Given the description of an element on the screen output the (x, y) to click on. 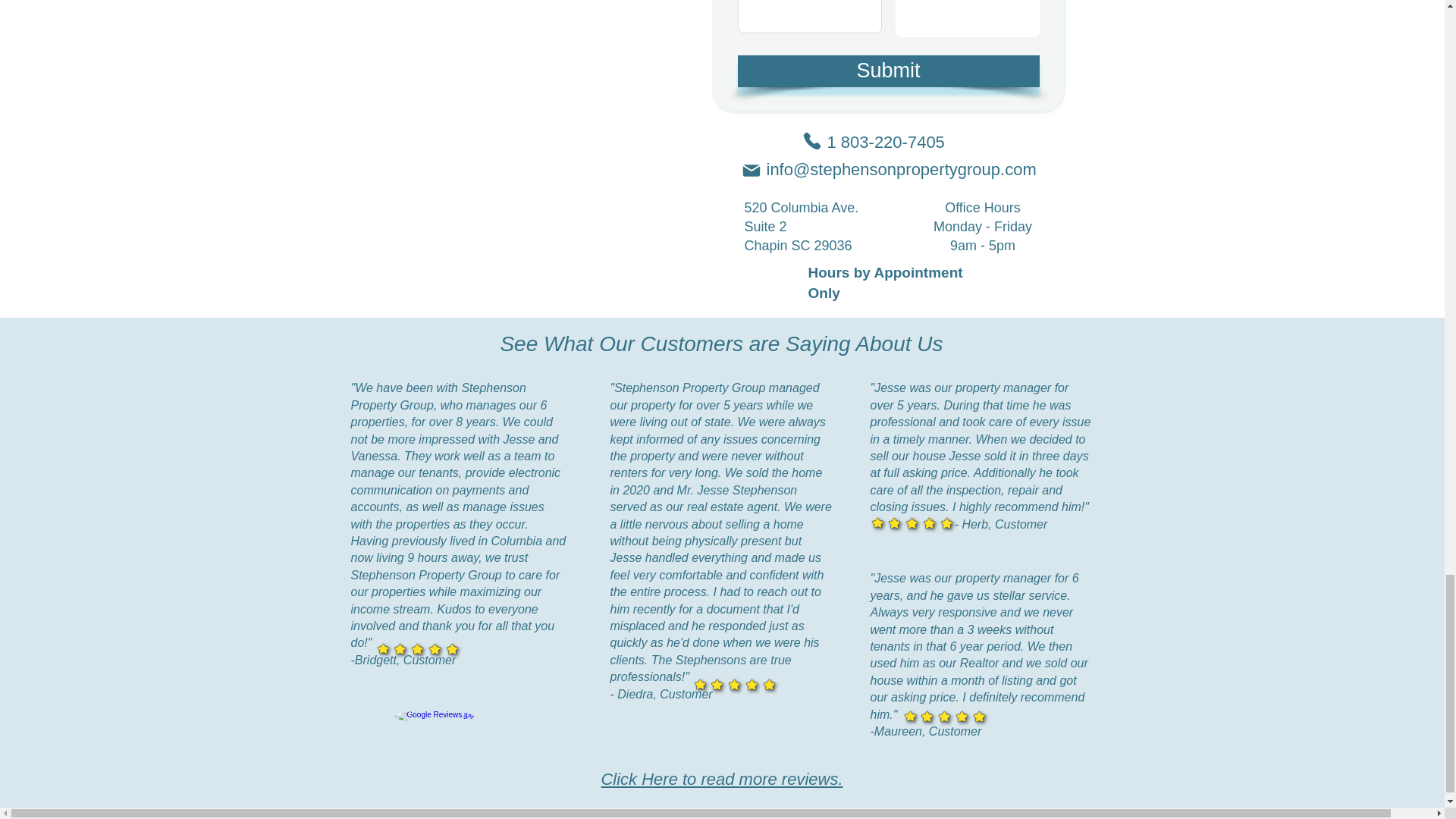
Submit (887, 70)
